Given the description of an element on the screen output the (x, y) to click on. 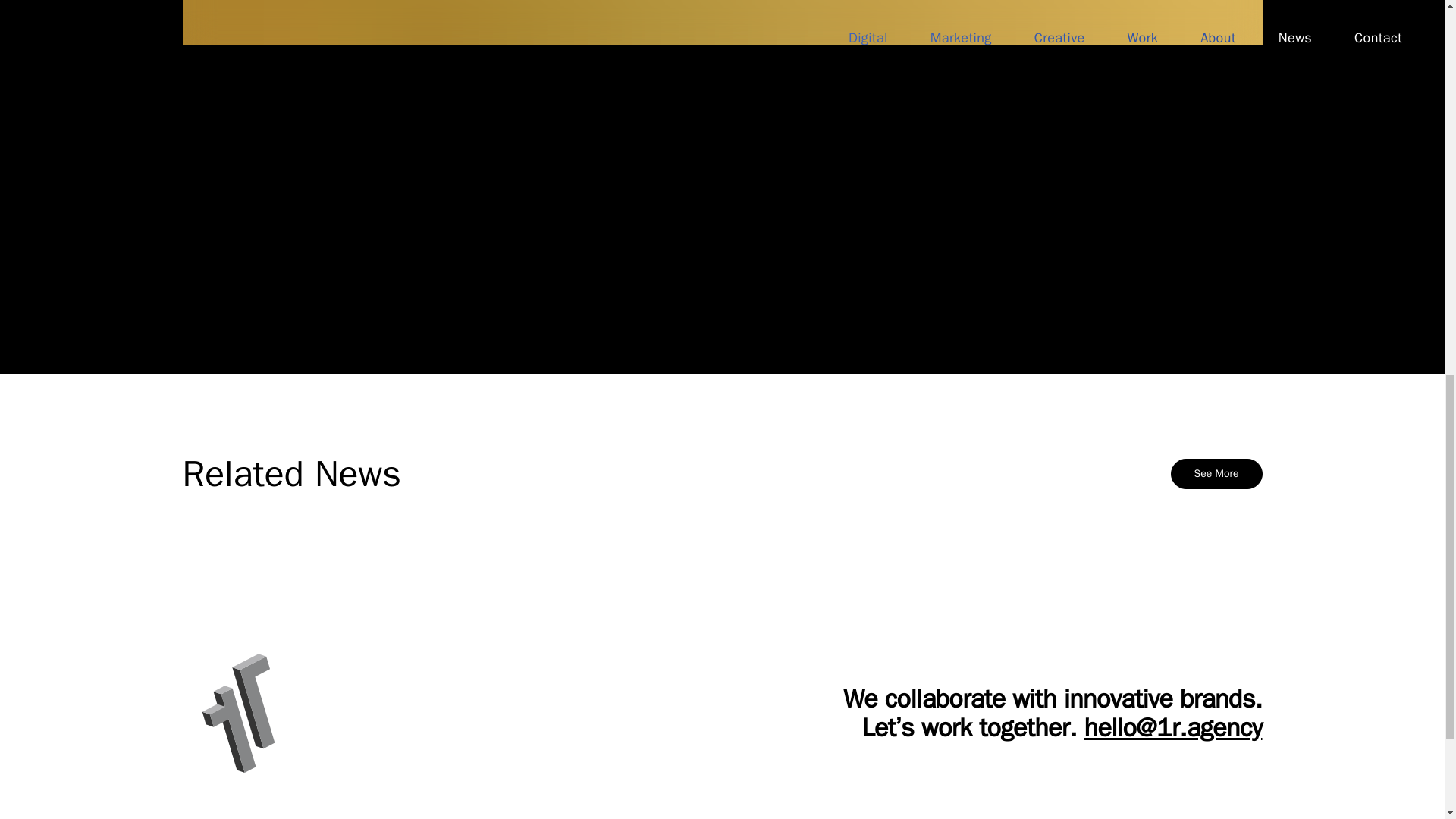
See More (1216, 473)
